Given the description of an element on the screen output the (x, y) to click on. 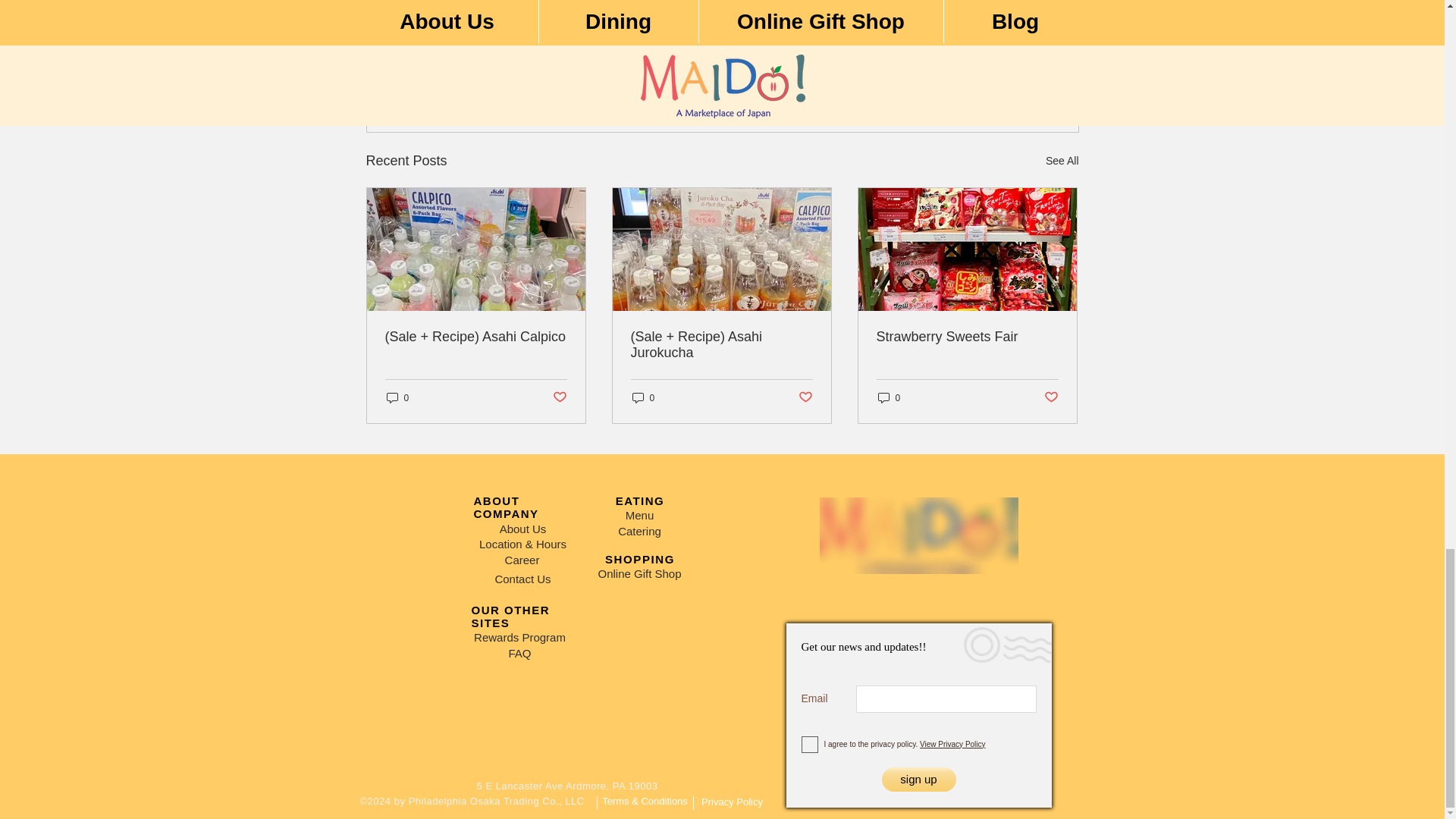
Japanese Food (966, 32)
See All (990, 77)
